Given the description of an element on the screen output the (x, y) to click on. 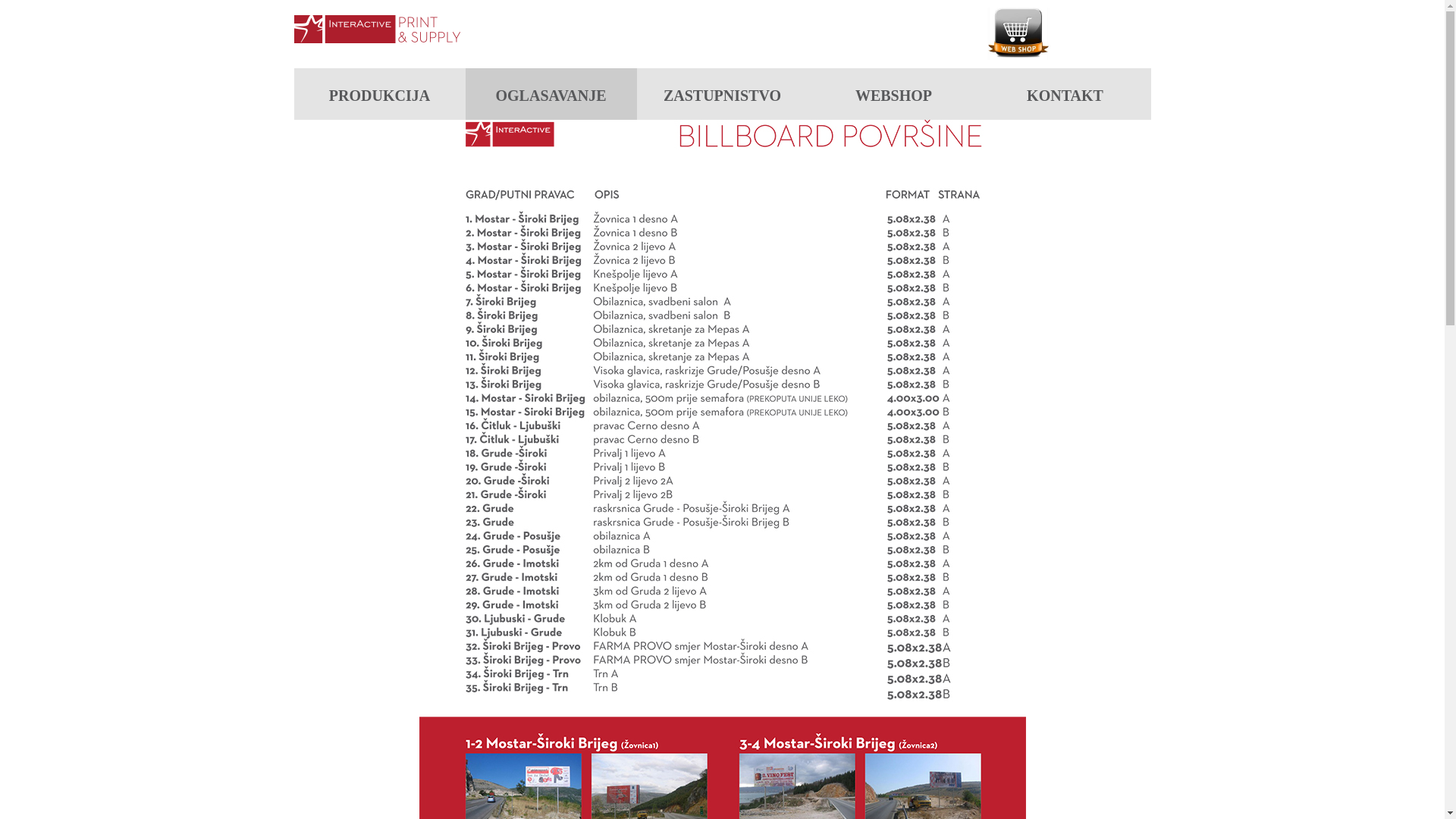
KONTAKT Element type: text (1065, 93)
OGLASAVANJE Element type: text (551, 93)
PRODUKCIJA Element type: text (379, 93)
WEBSHOP Element type: text (893, 93)
ZASTUPNISTVO Element type: text (722, 93)
